Given the description of an element on the screen output the (x, y) to click on. 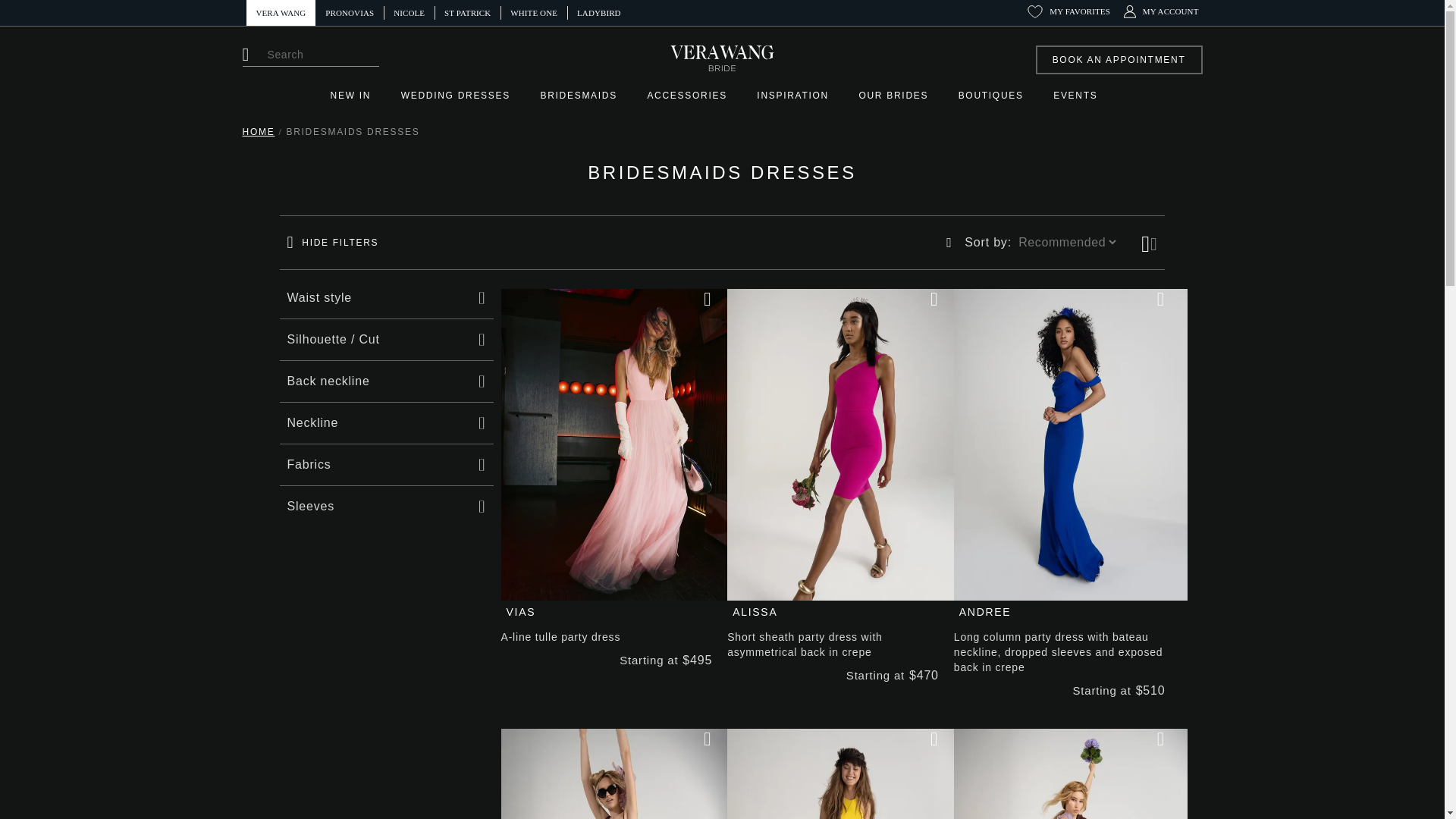
PRONOVIAS (349, 12)
ST PATRICK (466, 12)
NEW IN (357, 95)
LADYBIRD (598, 12)
BOOK AN APPOINTMENT (1118, 59)
WHITE ONE (533, 12)
MY FAVORITES (1068, 11)
NICOLE (408, 12)
MY ACCOUNT (1161, 11)
Go to Home Page (259, 131)
